Given the description of an element on the screen output the (x, y) to click on. 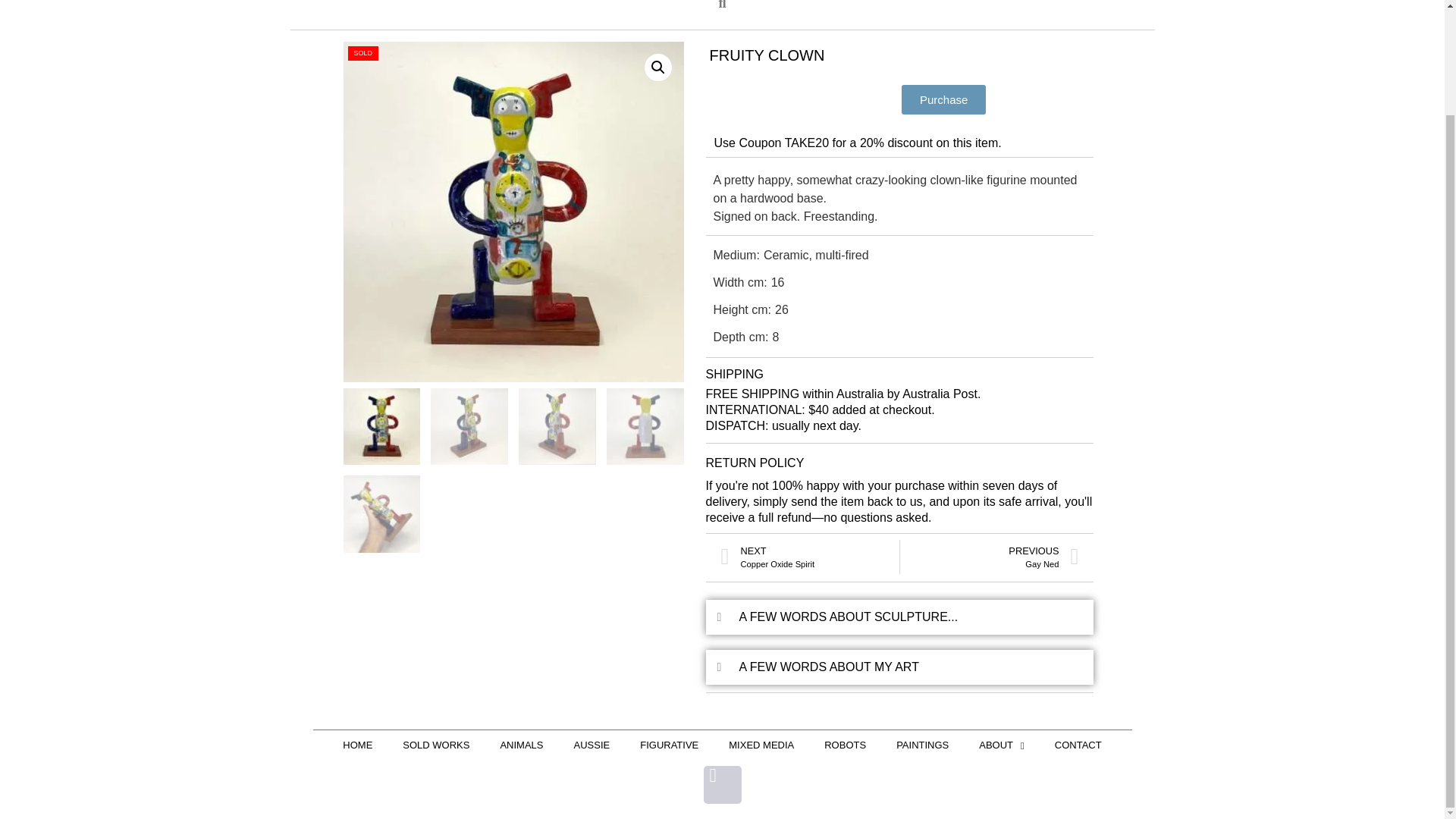
HOME (357, 745)
EDF4B32F-6240-49EC-BF6B-505B6D93A069 (854, 211)
4B1102E9-5614-4F61-A097-FA1B46EA5453 (512, 211)
Purchase (943, 99)
A FEW WORDS ABOUT SCULPTURE... (988, 556)
A FEW WORDS ABOUT MY ART (848, 616)
